Given the description of an element on the screen output the (x, y) to click on. 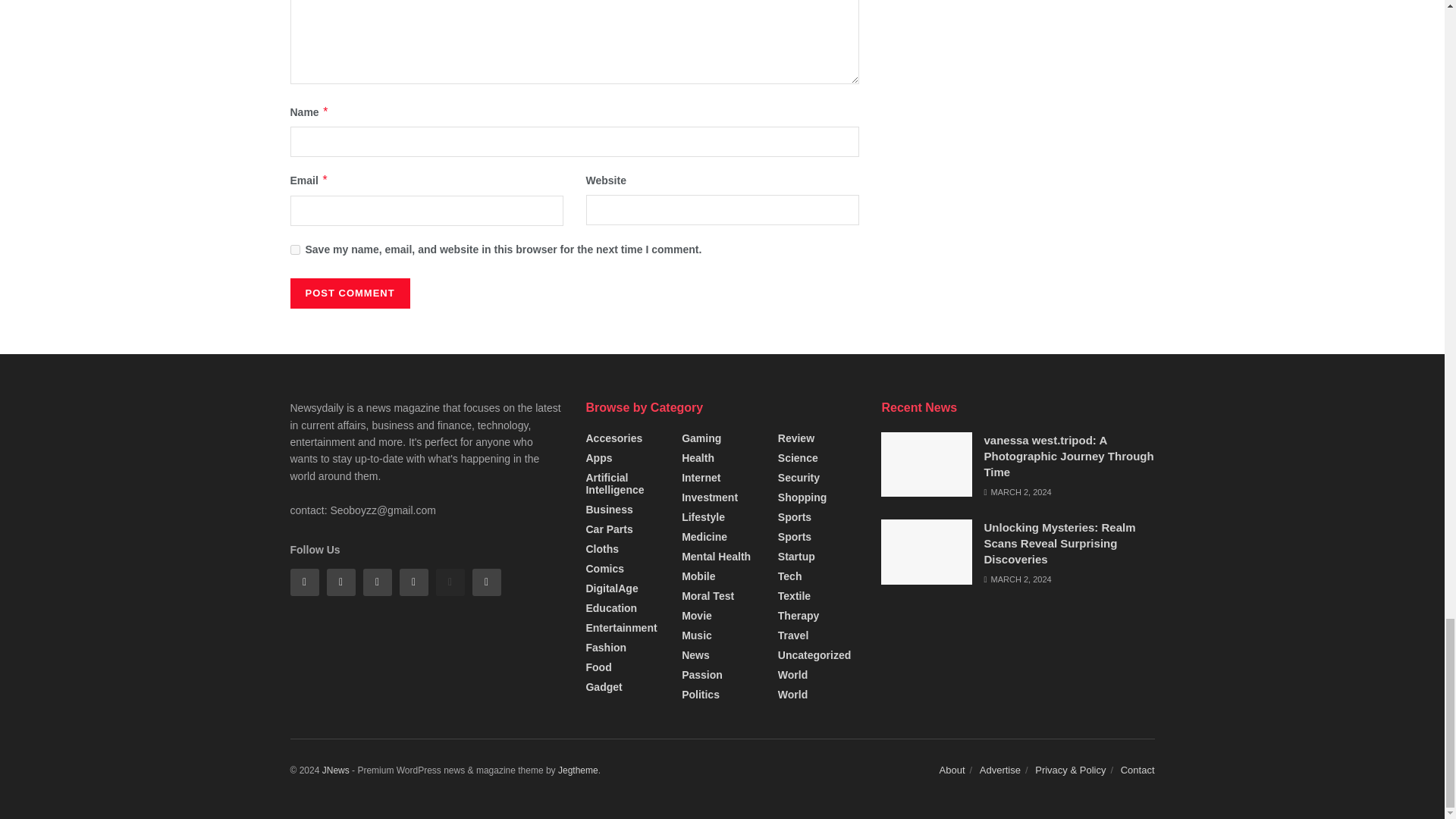
Jegtheme (577, 769)
Post Comment (349, 293)
yes (294, 249)
